Given the description of an element on the screen output the (x, y) to click on. 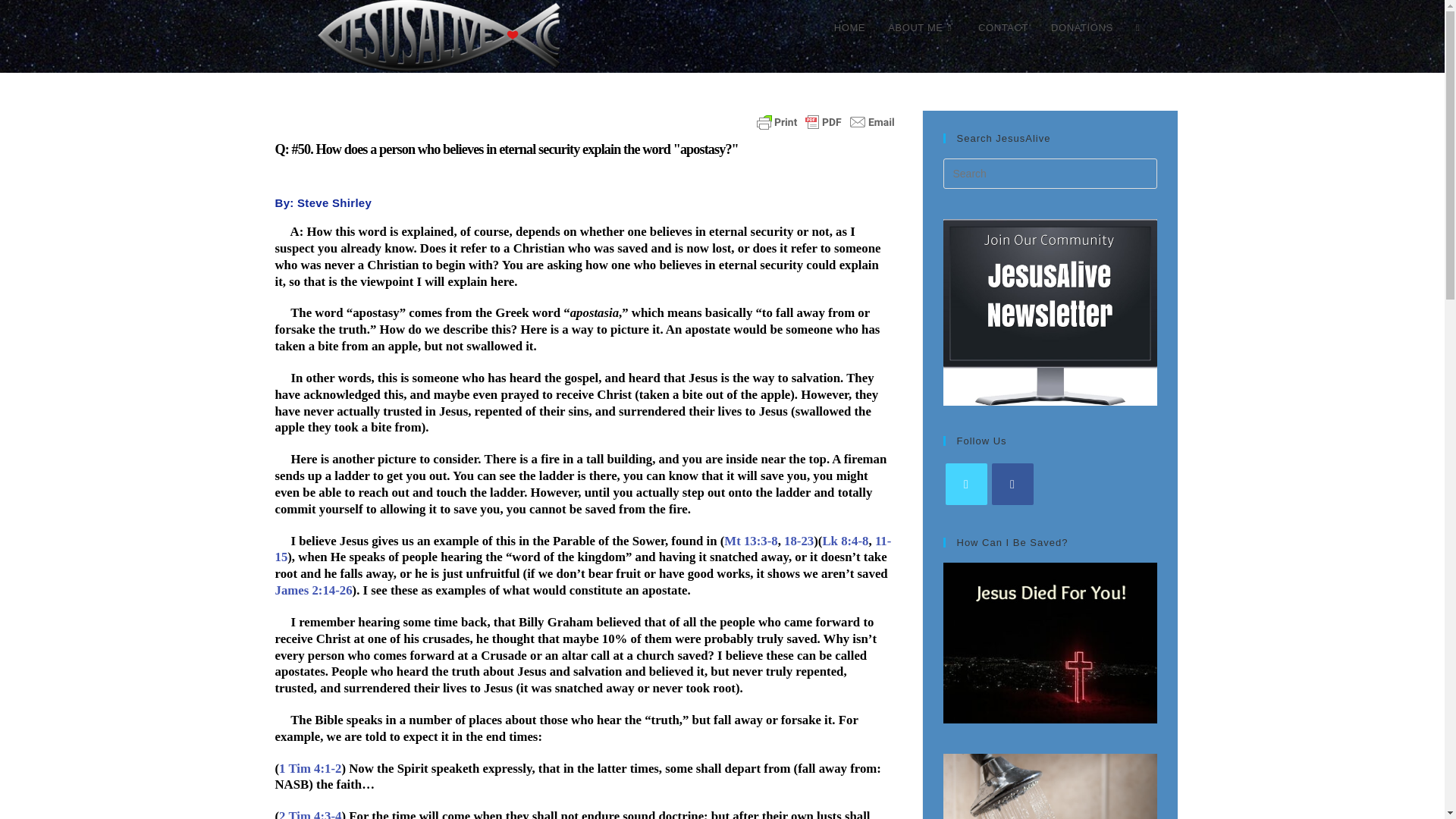
DONATIONS (1081, 28)
1 Tim 4:1-2 (309, 768)
ABOUT ME (921, 28)
18-23 (798, 540)
CONTACT (1002, 28)
Mt 13:3-8 (750, 540)
HOME (849, 28)
James 2:14-26 (313, 590)
Lk 8:4-8 (844, 540)
By: Steve Shirley (323, 202)
Jesus Died For You! (1050, 642)
11-15 (583, 549)
2 Tim 4:3-4 (309, 814)
